Given the description of an element on the screen output the (x, y) to click on. 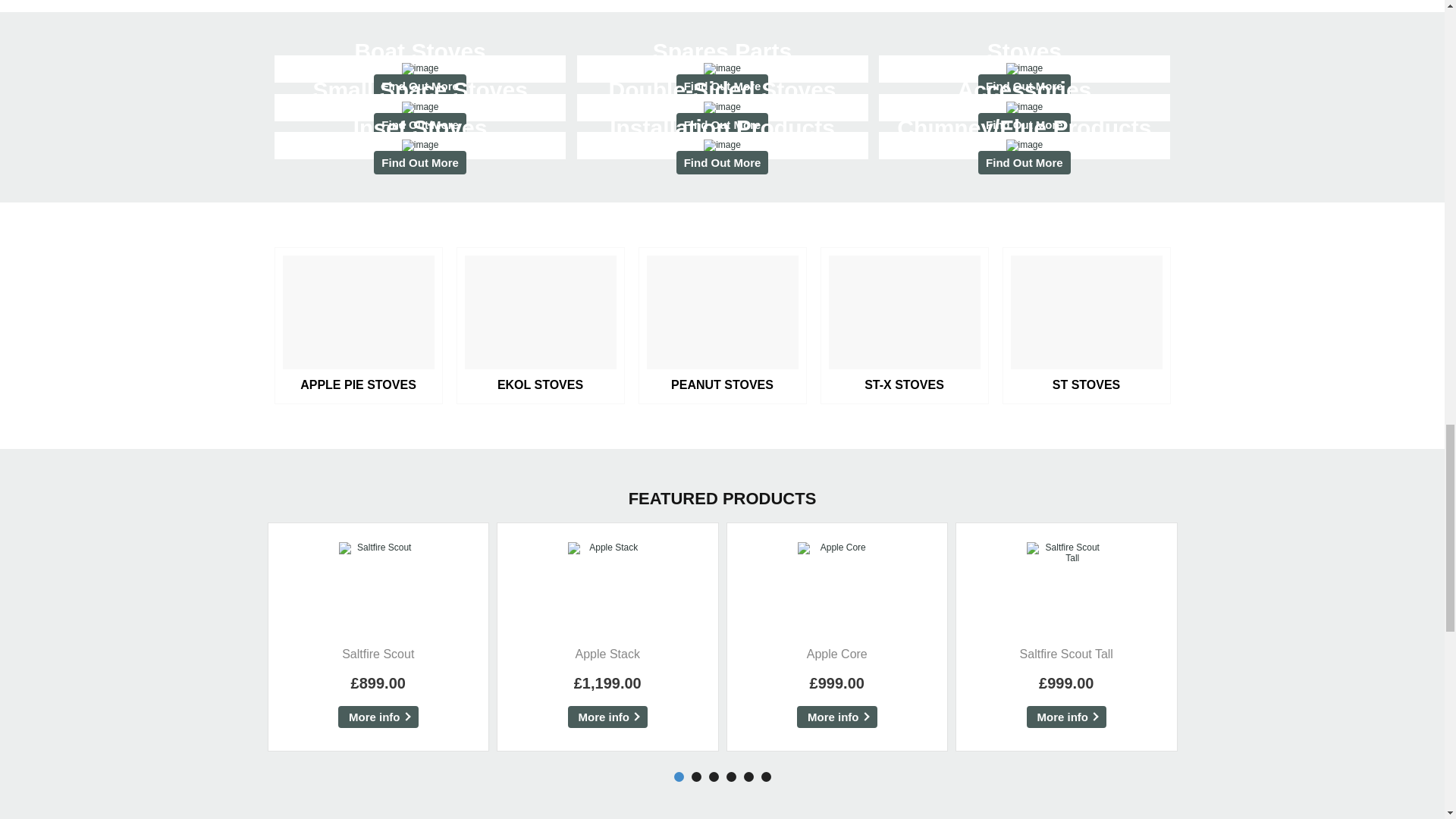
ST STOVES (1086, 325)
APPLE PIE STOVES (721, 68)
PEANUT STOVES (1024, 107)
EKOL STOVES (420, 68)
ST-X STOVES (721, 144)
